Given the description of an element on the screen output the (x, y) to click on. 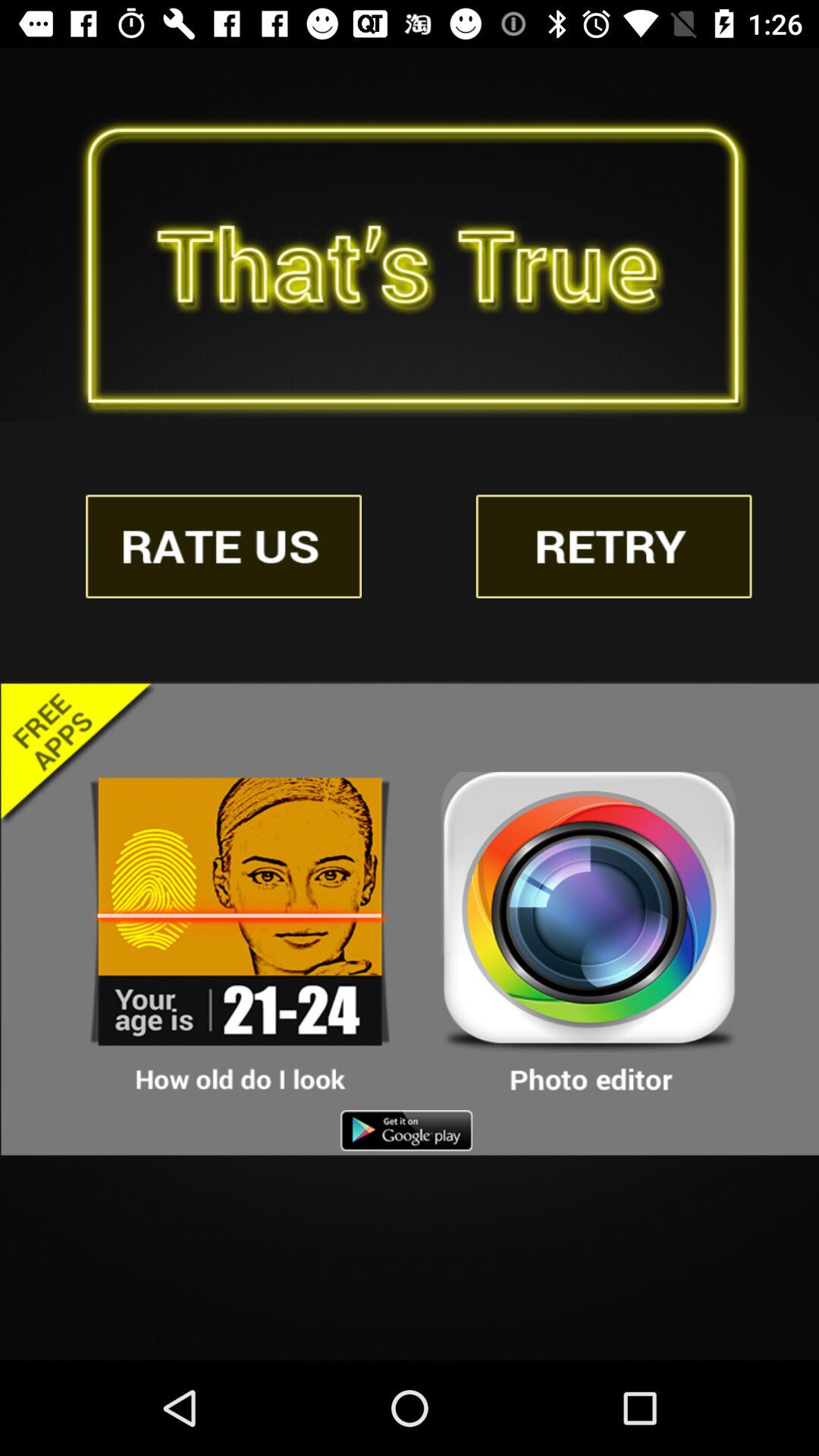
choose your choice (589, 933)
